Given the description of an element on the screen output the (x, y) to click on. 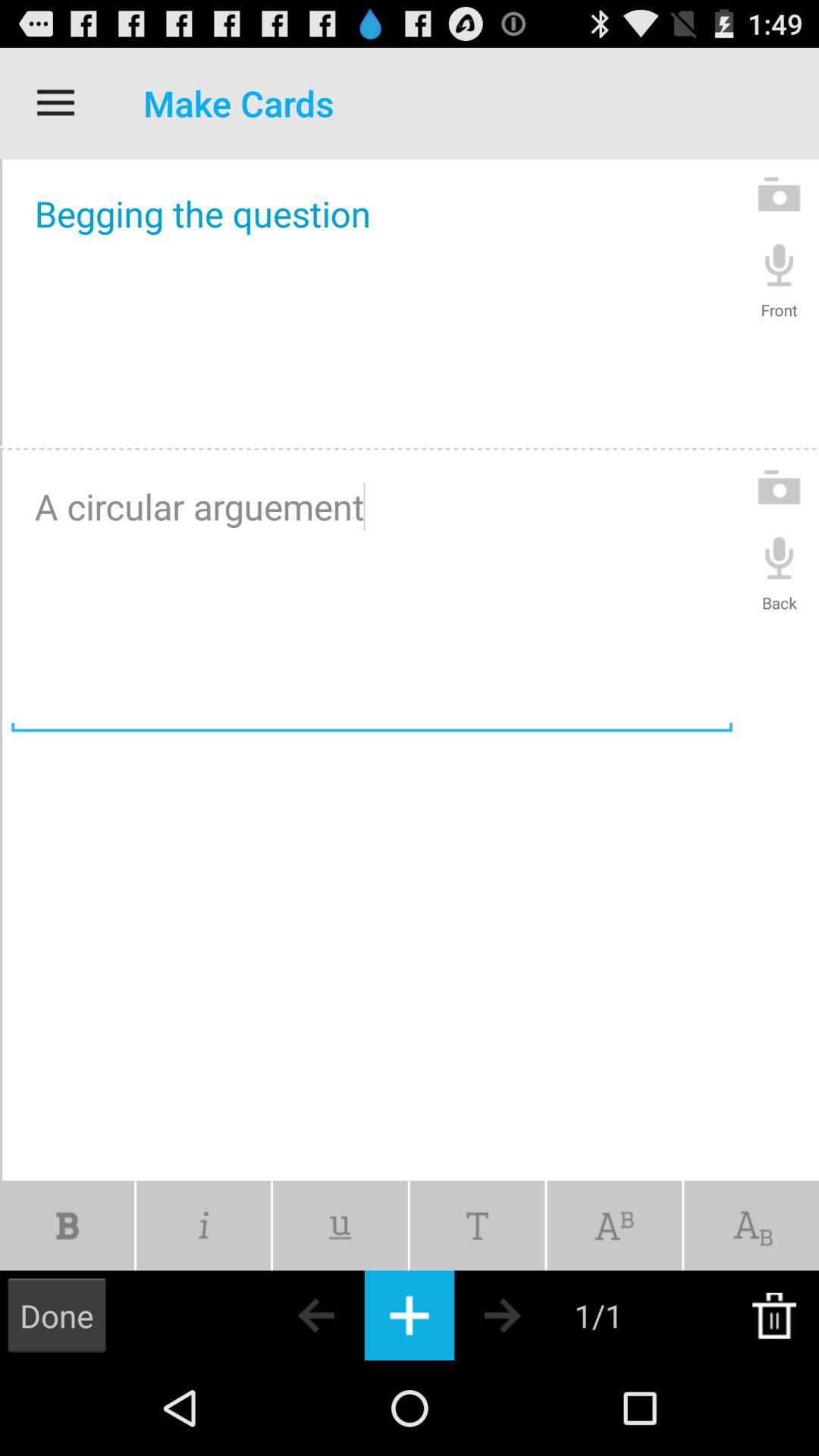
change text to subscript (751, 1225)
